Given the description of an element on the screen output the (x, y) to click on. 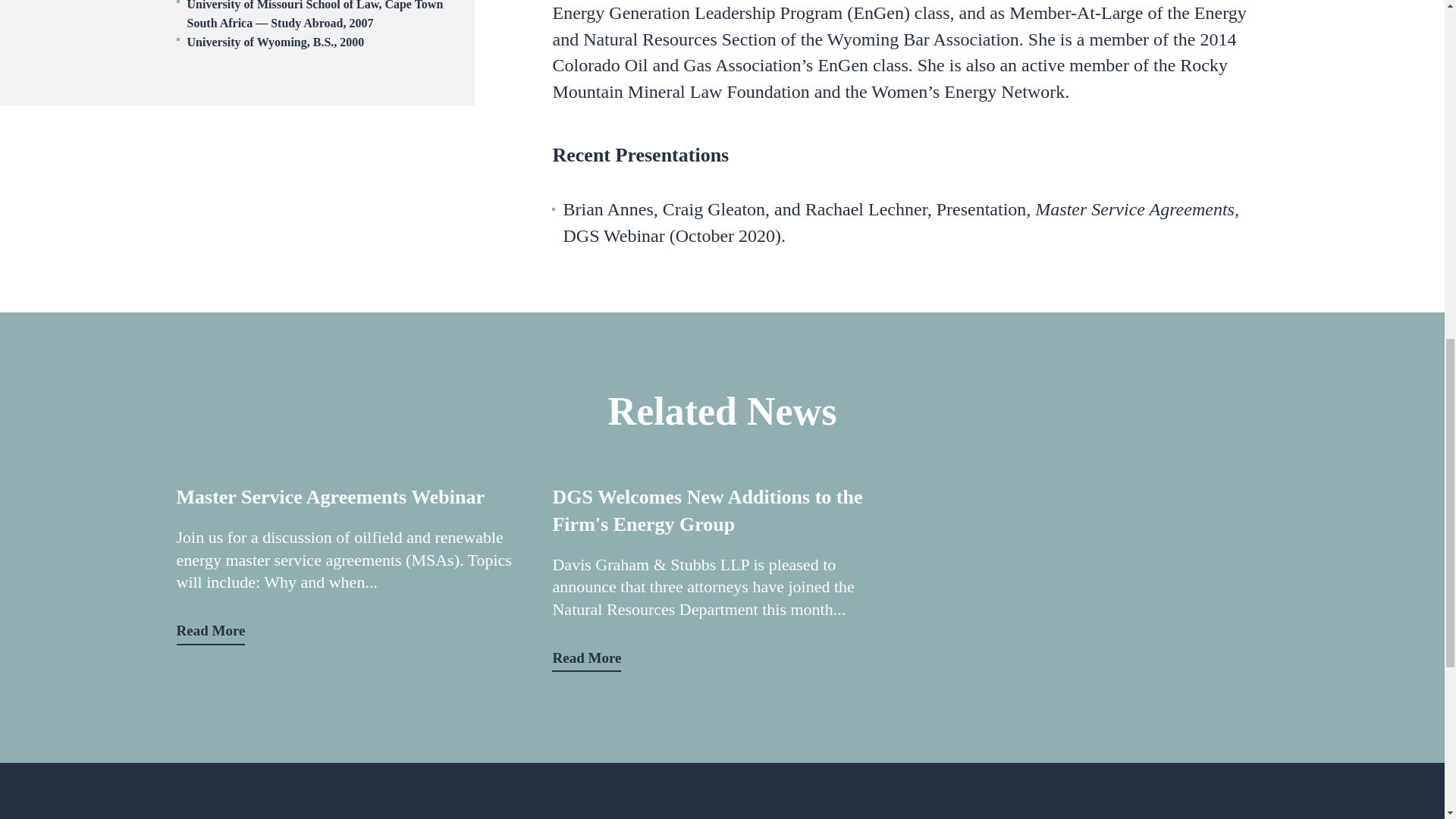
Read More (210, 631)
Read More (586, 658)
Master Service Agreements Webinar (345, 497)
DGS Welcomes New Additions to the Firm's Energy Group (721, 511)
